Given the description of an element on the screen output the (x, y) to click on. 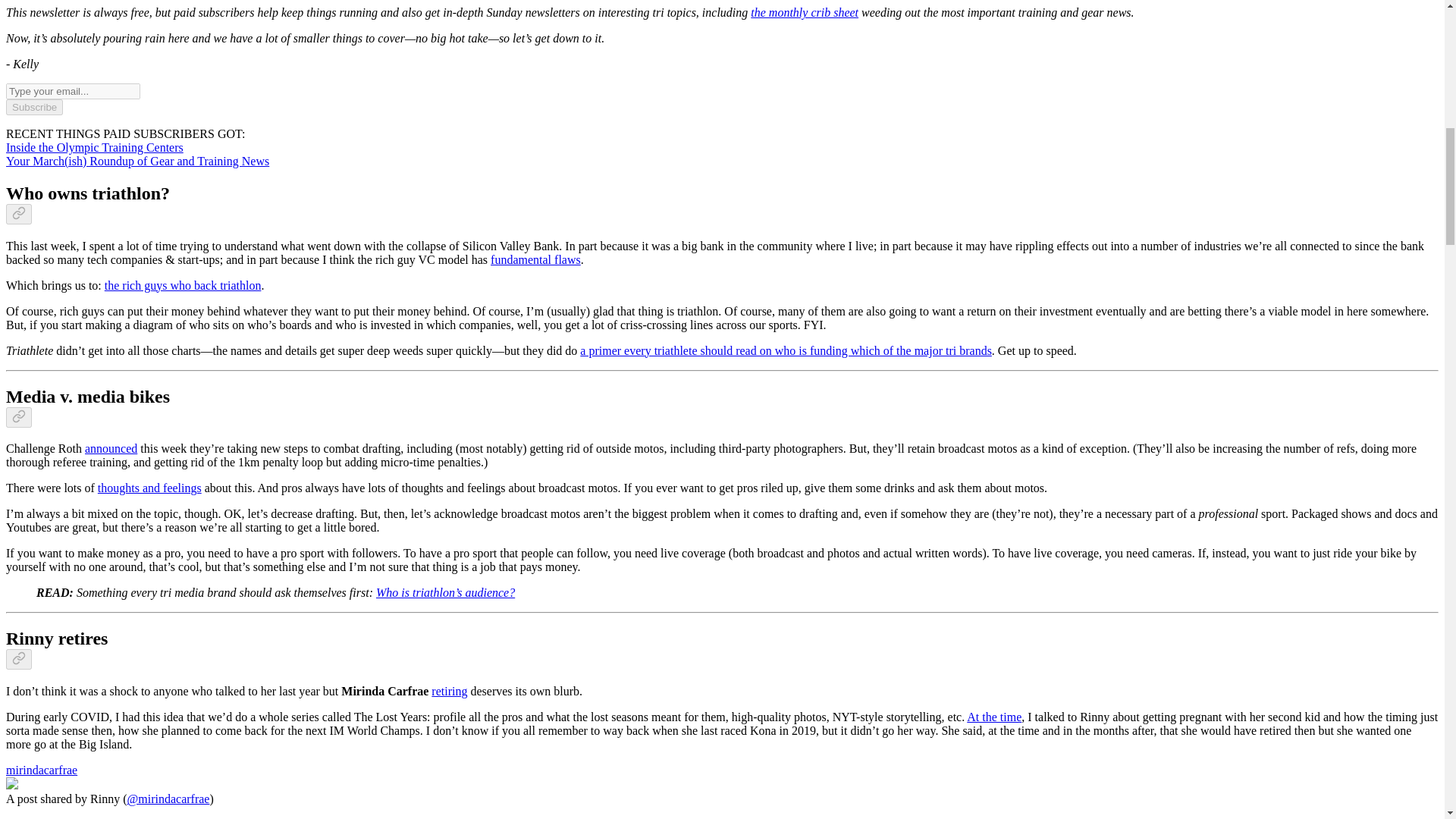
announced (110, 448)
mirindacarfrae (41, 769)
At the time (994, 716)
fundamental flaws (535, 259)
Subscribe (33, 107)
the monthly crib sheet (805, 11)
the rich guys who back triathlon (183, 285)
thoughts and feelings (149, 487)
Inside the Olympic Training Centers (94, 146)
retiring (448, 690)
